Given the description of an element on the screen output the (x, y) to click on. 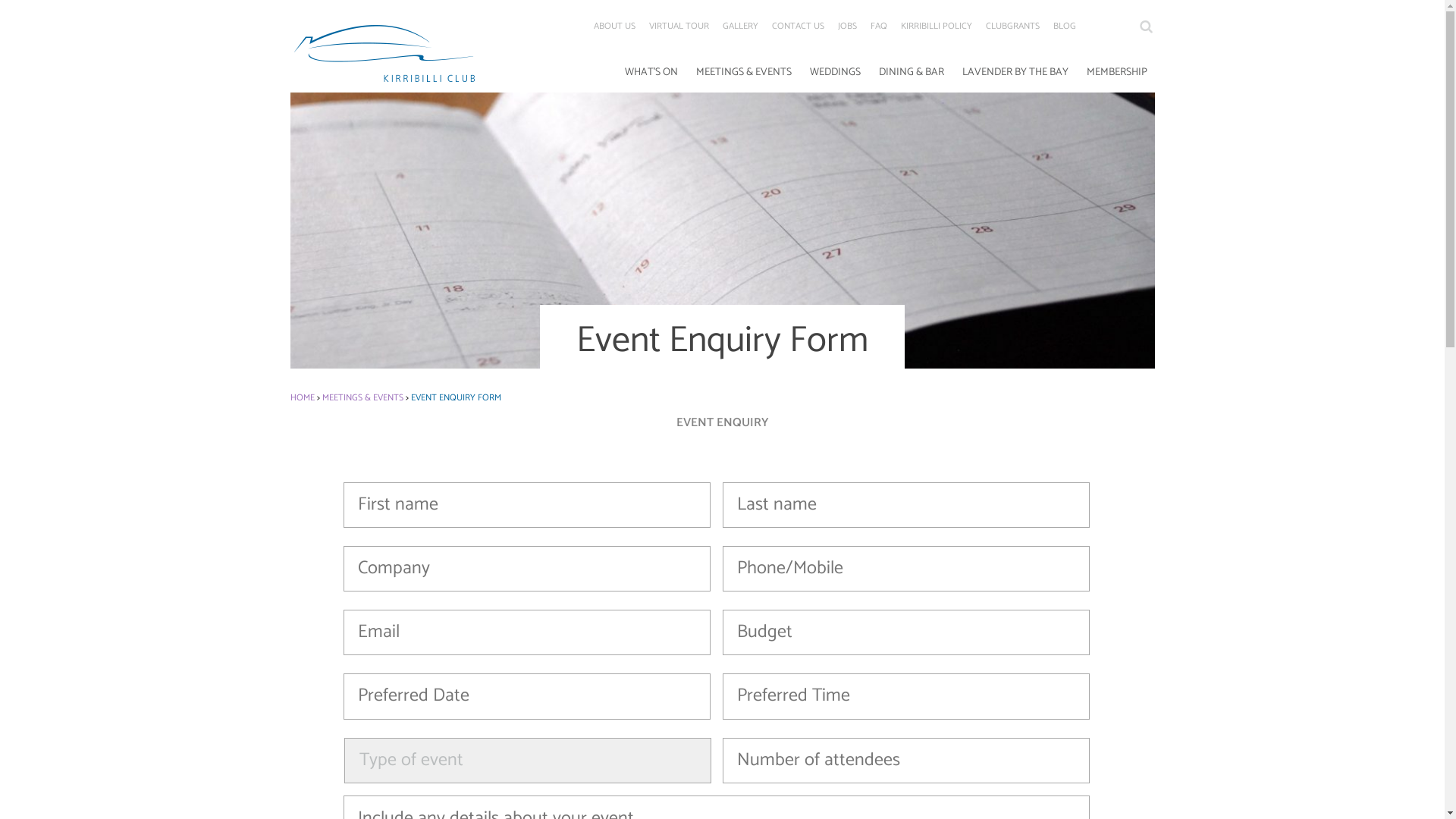
WEDDINGS Element type: text (835, 74)
ABOUT US Element type: text (613, 26)
LAVENDER BY THE BAY Element type: text (1014, 74)
CONTACT US Element type: text (797, 26)
Kirribilli Club - Great Times Harbourside Element type: text (384, 53)
JOBS Element type: text (846, 26)
CLUBGRANTS Element type: text (1012, 26)
KIRRIBILLI POLICY Element type: text (936, 26)
Search Element type: text (1145, 25)
HOME Element type: text (301, 397)
VIRTUAL TOUR Element type: text (679, 26)
BLOG Element type: text (1063, 26)
MEETINGS & EVENTS Element type: text (743, 74)
GALLERY Element type: text (739, 26)
DINING & BAR Element type: text (910, 74)
MEMBERSHIP Element type: text (1116, 74)
MEETINGS & EVENTS Element type: text (361, 397)
FAQ Element type: text (878, 26)
